Given the description of an element on the screen output the (x, y) to click on. 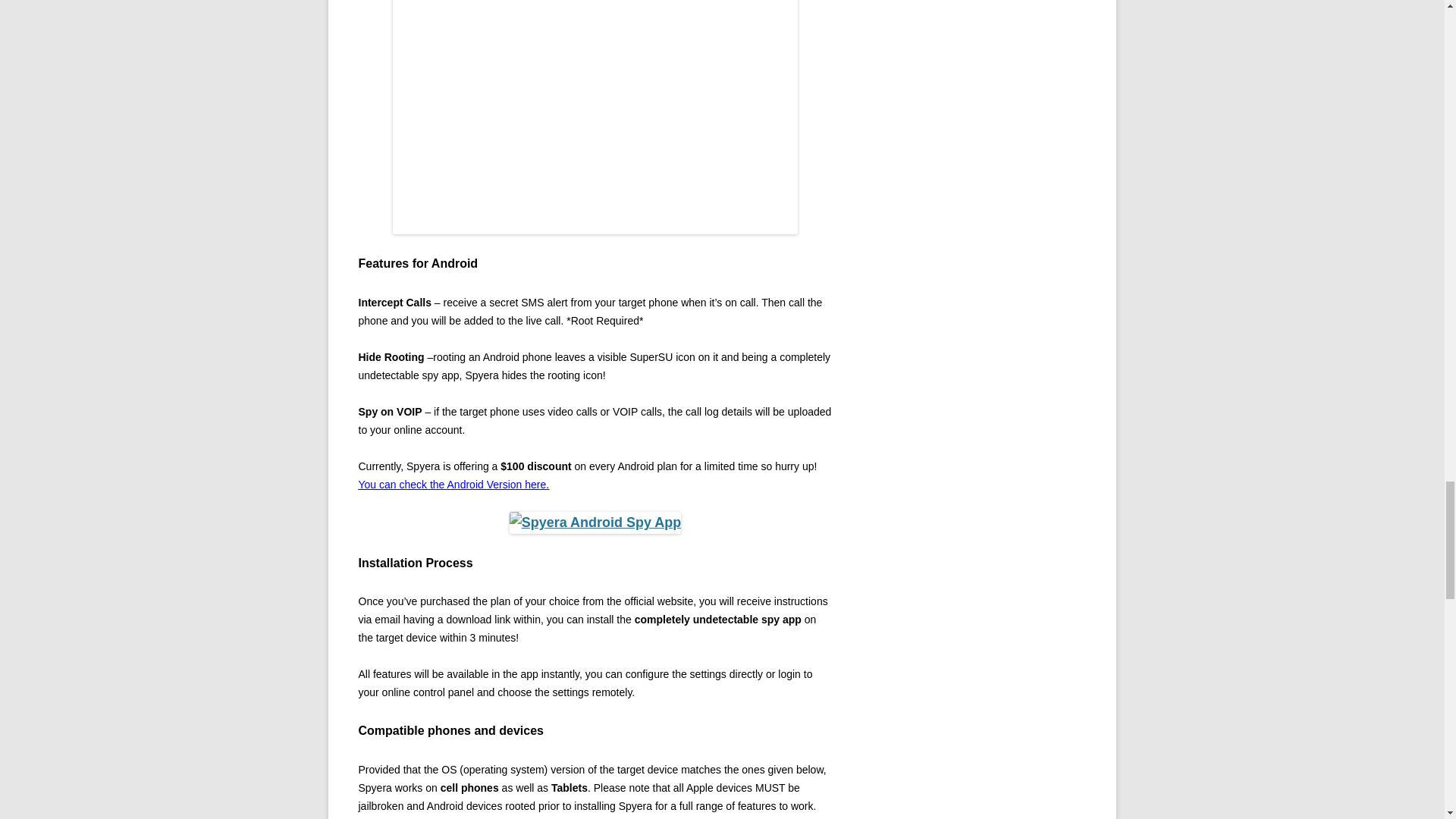
Spyera Android version (453, 484)
You can check the Android Version here. (453, 484)
spyera android (595, 522)
